Given the description of an element on the screen output the (x, y) to click on. 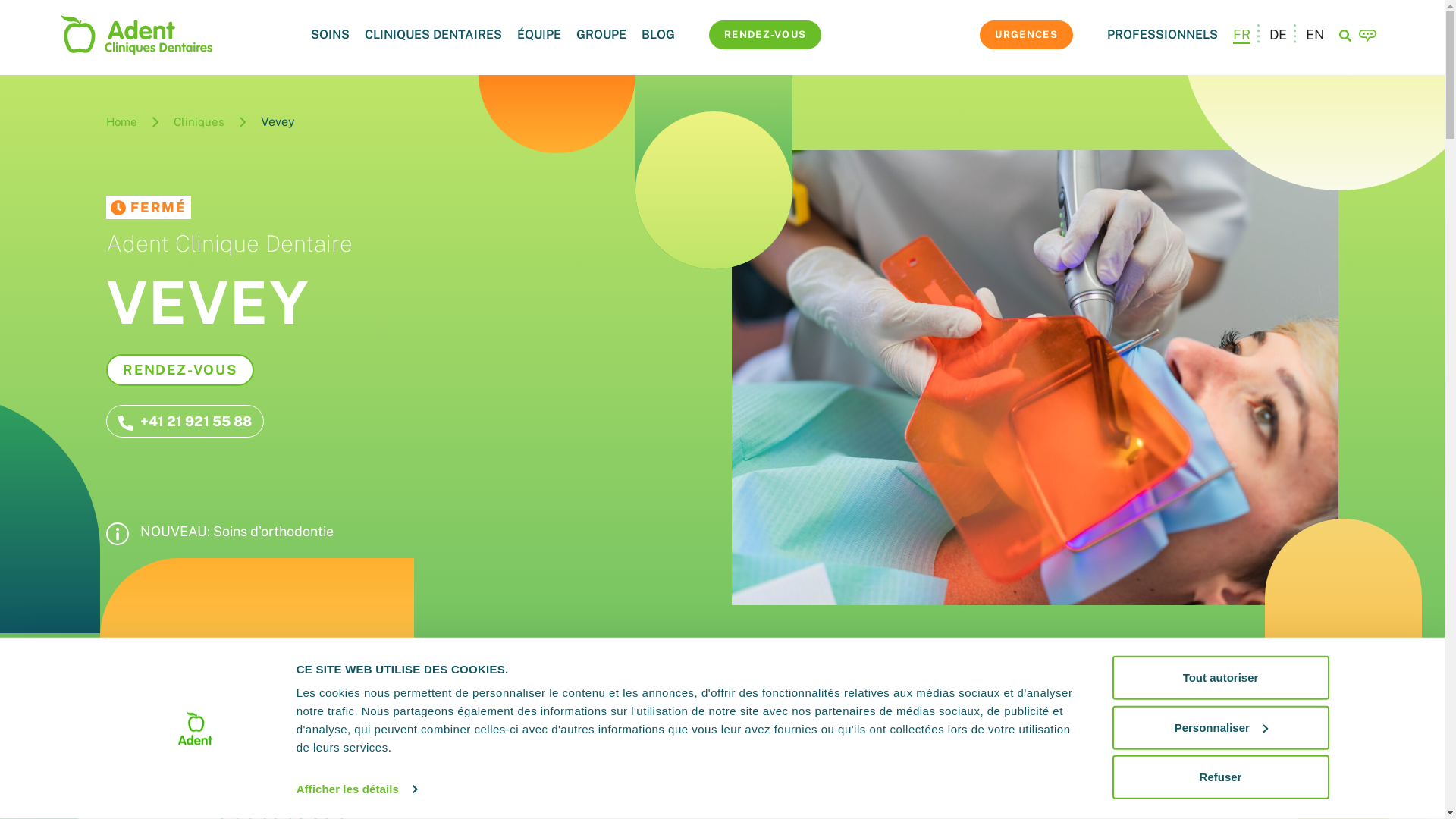
+41 21 921 55 88 Element type: text (184, 420)
BLOG Element type: text (657, 34)
Refuser Element type: text (1219, 777)
GROUPE Element type: text (601, 34)
EN Element type: text (1314, 33)
CLINIQUES DENTAIRES Element type: text (433, 34)
RENDEZ-VOUS Element type: text (765, 34)
Home Element type: text (121, 121)
Adent Cliniques Dentaires,  Element type: hover (136, 33)
PROFESSIONNELS Element type: text (1162, 34)
RENDEZ-VOUS Element type: text (180, 369)
SOINS Element type: text (329, 34)
Personnaliser Element type: text (1219, 727)
Cliniques Element type: text (198, 121)
Tout autoriser Element type: text (1219, 677)
FR Element type: text (1241, 34)
URGENCES Element type: text (1025, 34)
DE Element type: text (1277, 33)
